Given the description of an element on the screen output the (x, y) to click on. 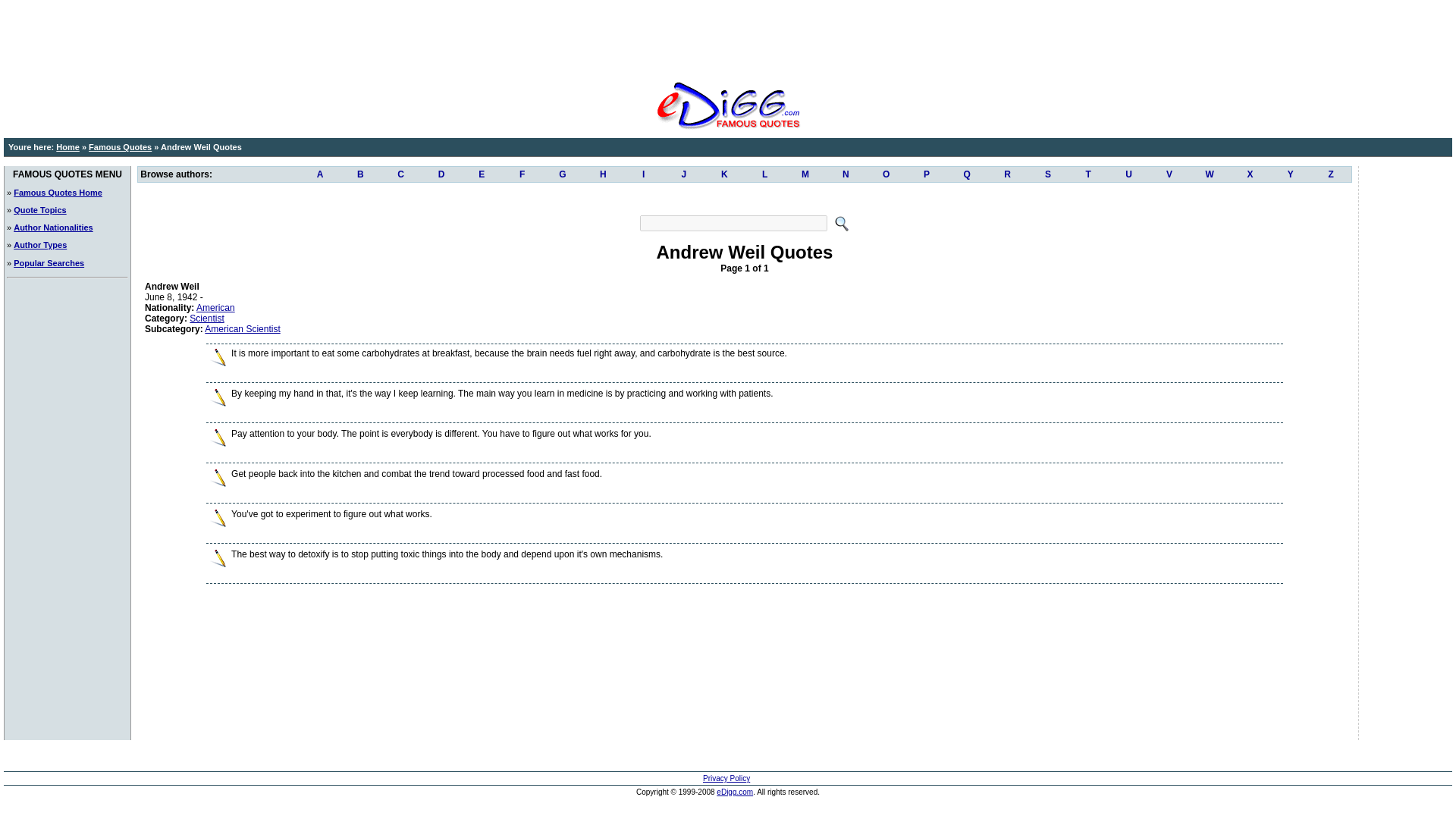
G (561, 174)
A (319, 174)
Search (733, 222)
E (481, 174)
D (440, 174)
Scientist (206, 317)
J (683, 174)
Advertisement (744, 197)
Popular Searches (48, 262)
Famous Quotes Home (57, 192)
